Given the description of an element on the screen output the (x, y) to click on. 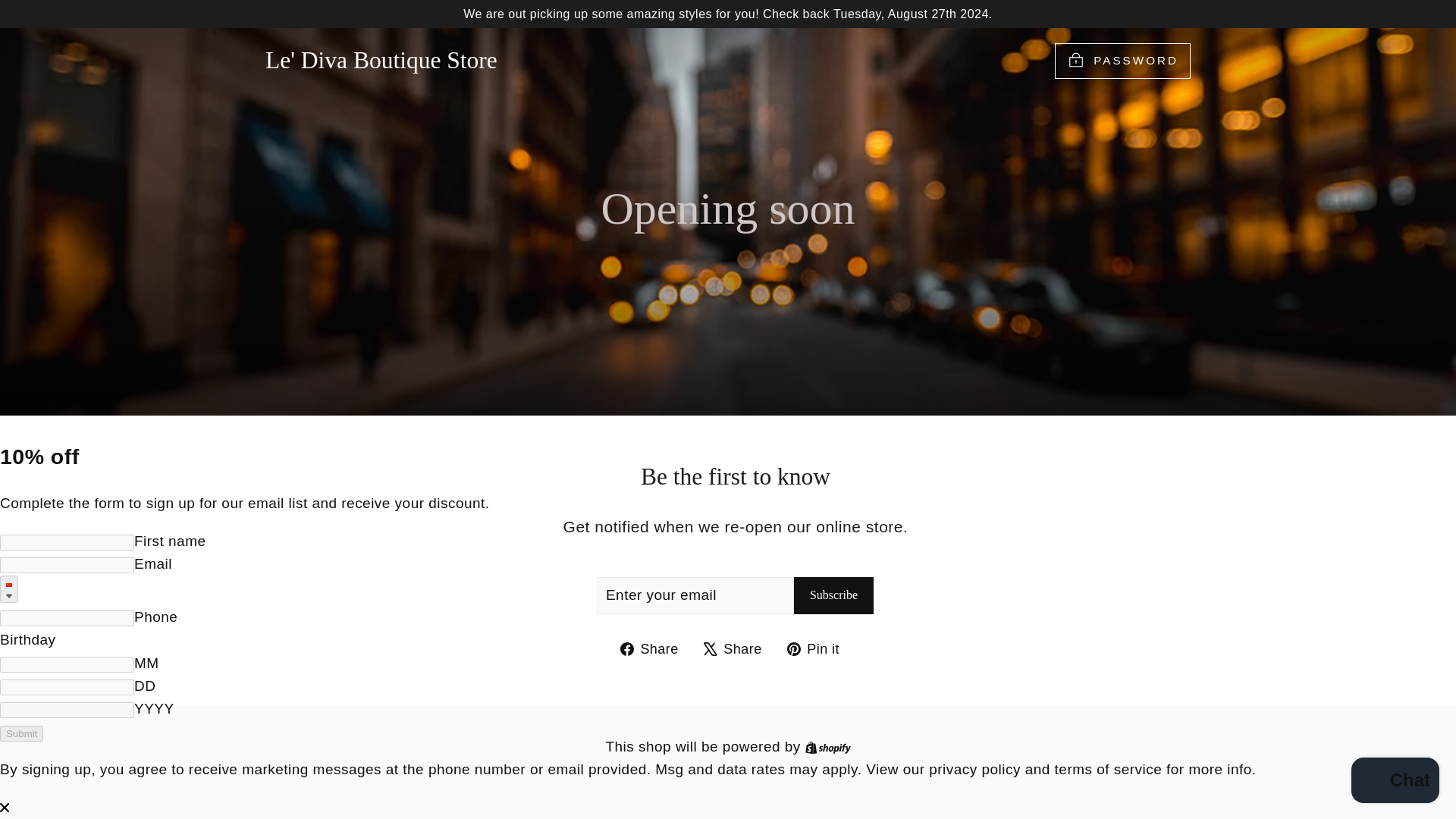
Tweet on X (738, 649)
Create your own online store with Shopify (827, 746)
PASSWORD (738, 649)
Subscribe (827, 746)
Pin on Pinterest (1122, 60)
Share on Facebook (833, 595)
